Given the description of an element on the screen output the (x, y) to click on. 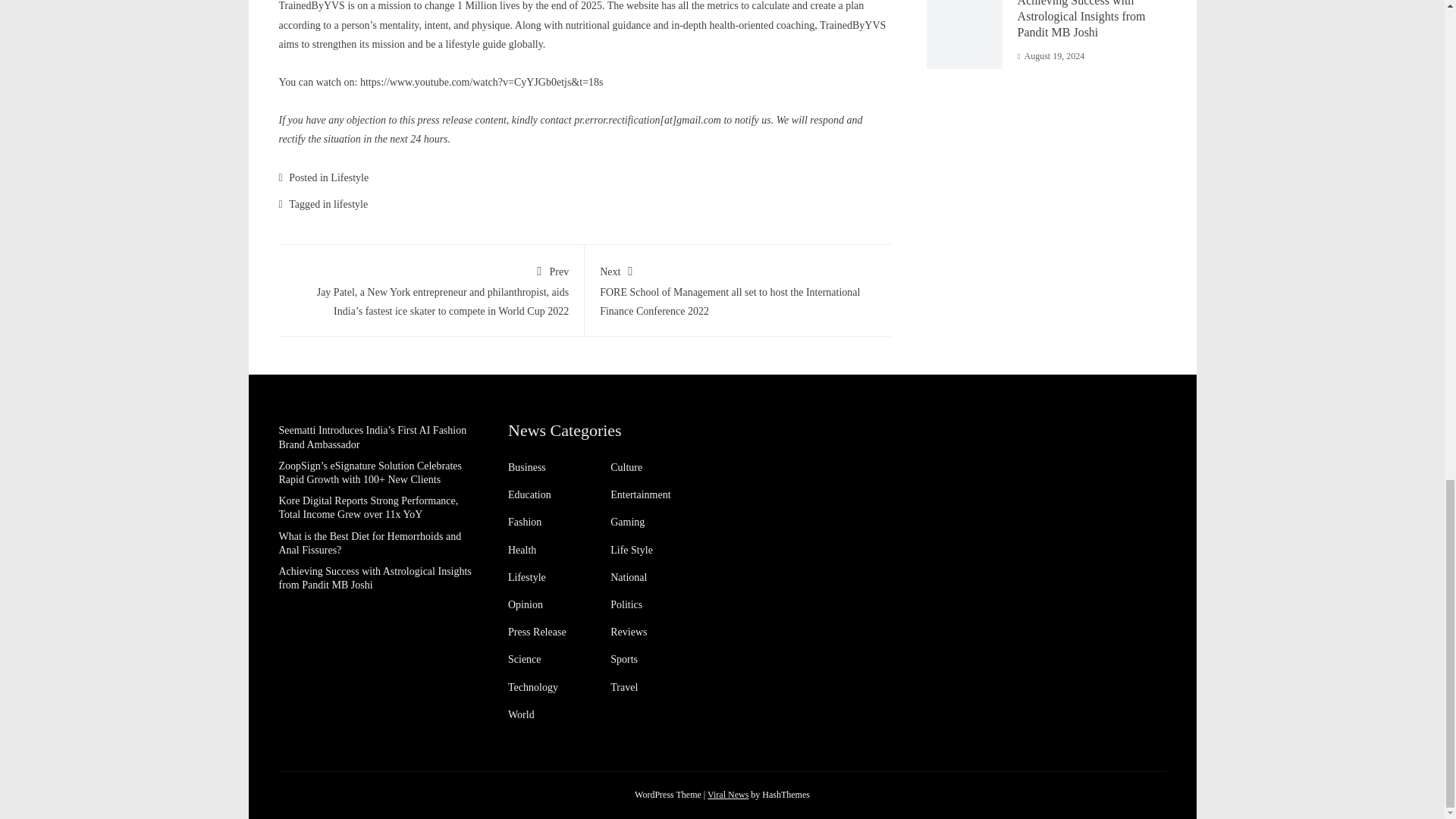
lifestyle (350, 204)
Lifestyle (349, 176)
Download Viral News (727, 794)
